Given the description of an element on the screen output the (x, y) to click on. 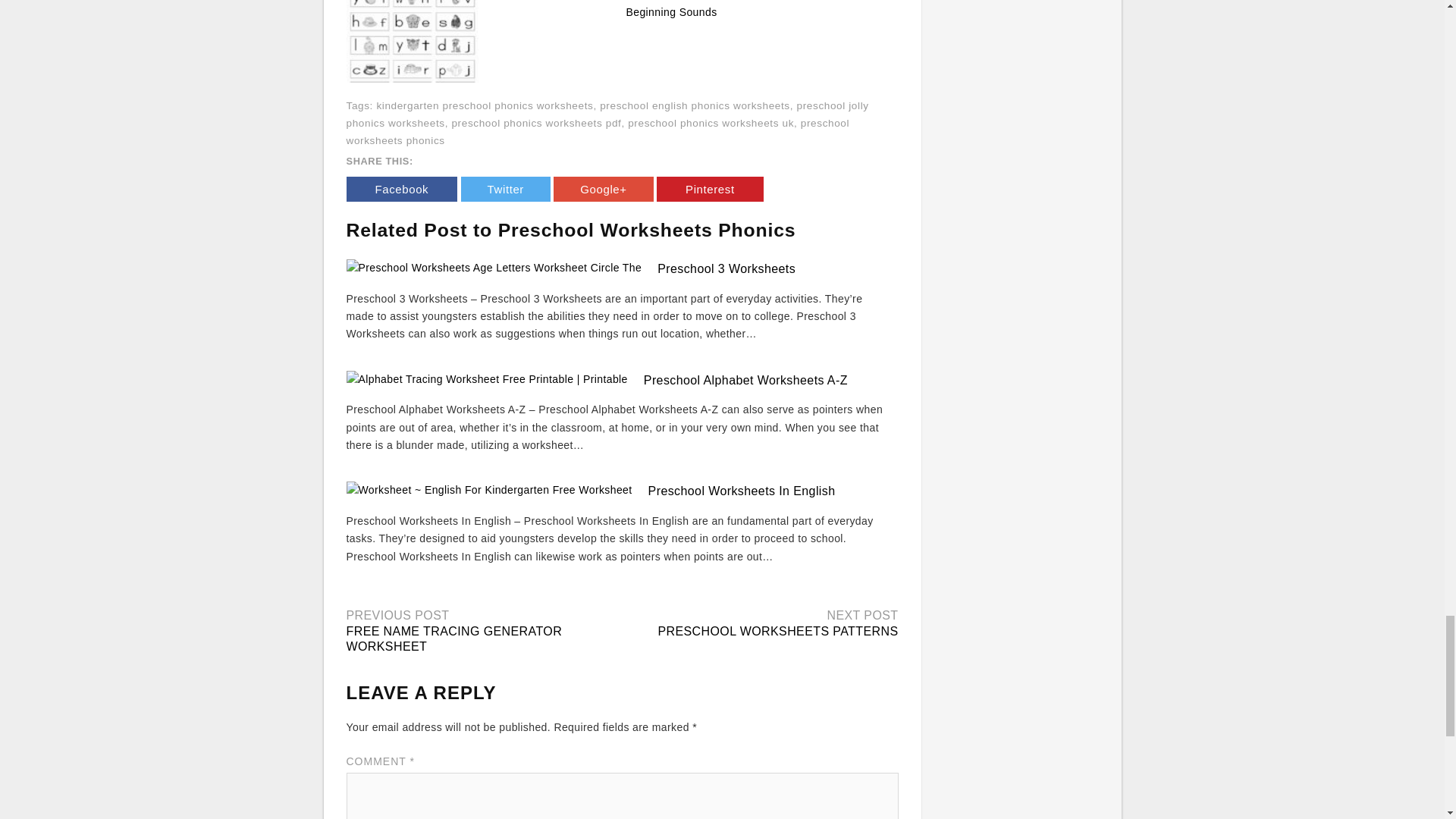
preschool phonics worksheets uk (710, 122)
PRESCHOOL WORKSHEETS PATTERNS (778, 631)
Preschool Worksheets In English (741, 490)
preschool phonics worksheets pdf (536, 122)
Preschool Alphabet Worksheets A-Z (745, 379)
Kindergarten Phonics   Best Coloring Pages For Kids (552, 2)
Image Result For Jolly Phonics Worksheets Printables (412, 15)
Preschool Alphabet Worksheets A-Z (745, 379)
preschool jolly phonics worksheets (606, 113)
kindergarten preschool phonics worksheets (483, 105)
